Given the description of an element on the screen output the (x, y) to click on. 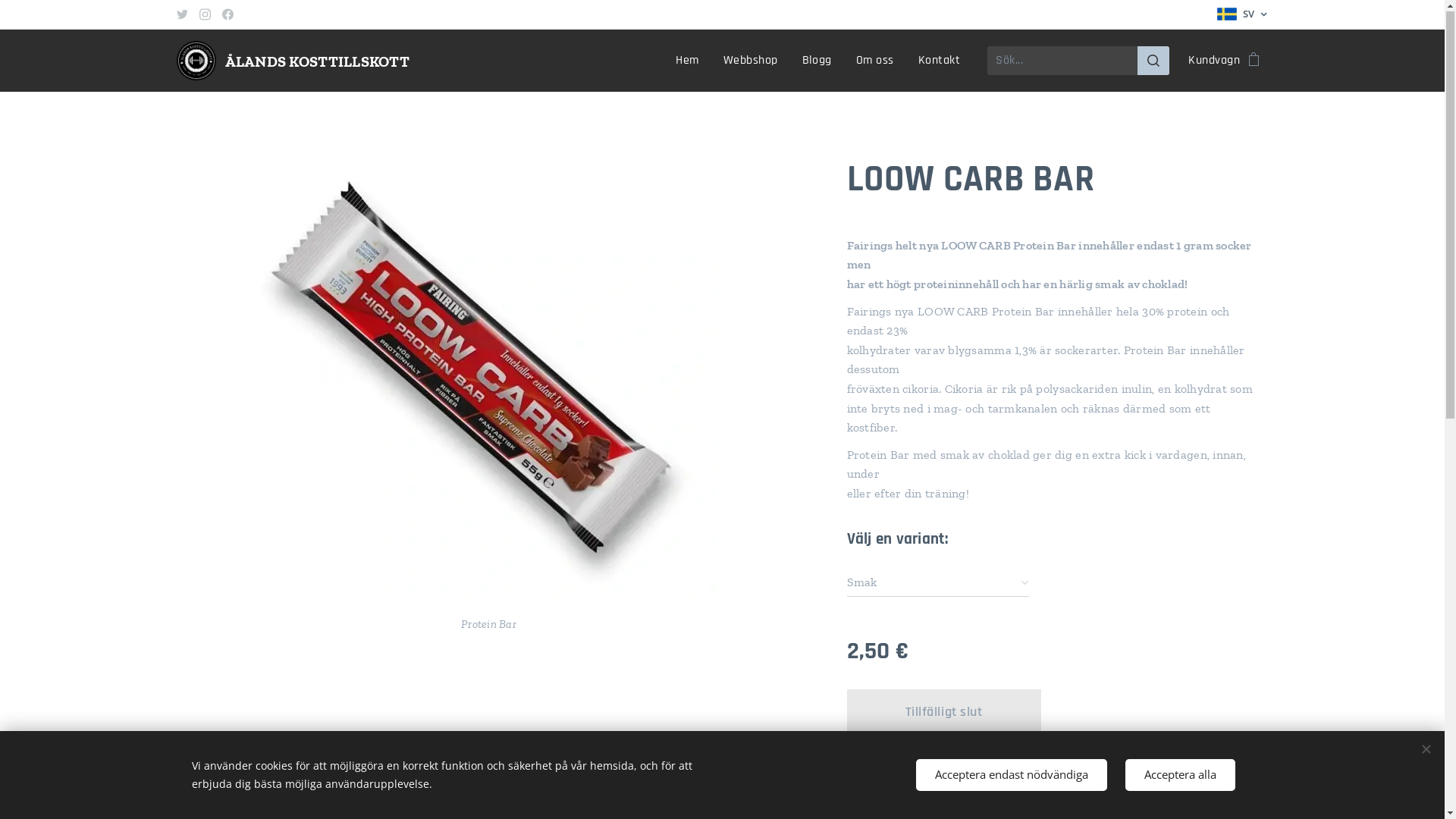
Acceptera alla Element type: text (1180, 774)
Facebook Element type: hover (227, 15)
Blogg Element type: text (817, 61)
Protein Bar Element type: text (487, 393)
Om oss Element type: text (875, 61)
Kontakt Element type: text (939, 61)
Instagram Element type: hover (204, 15)
Webbshop Element type: text (750, 61)
Hem Element type: text (690, 61)
Kundvagn Element type: text (1218, 61)
Twitter Element type: hover (181, 15)
